Given the description of an element on the screen output the (x, y) to click on. 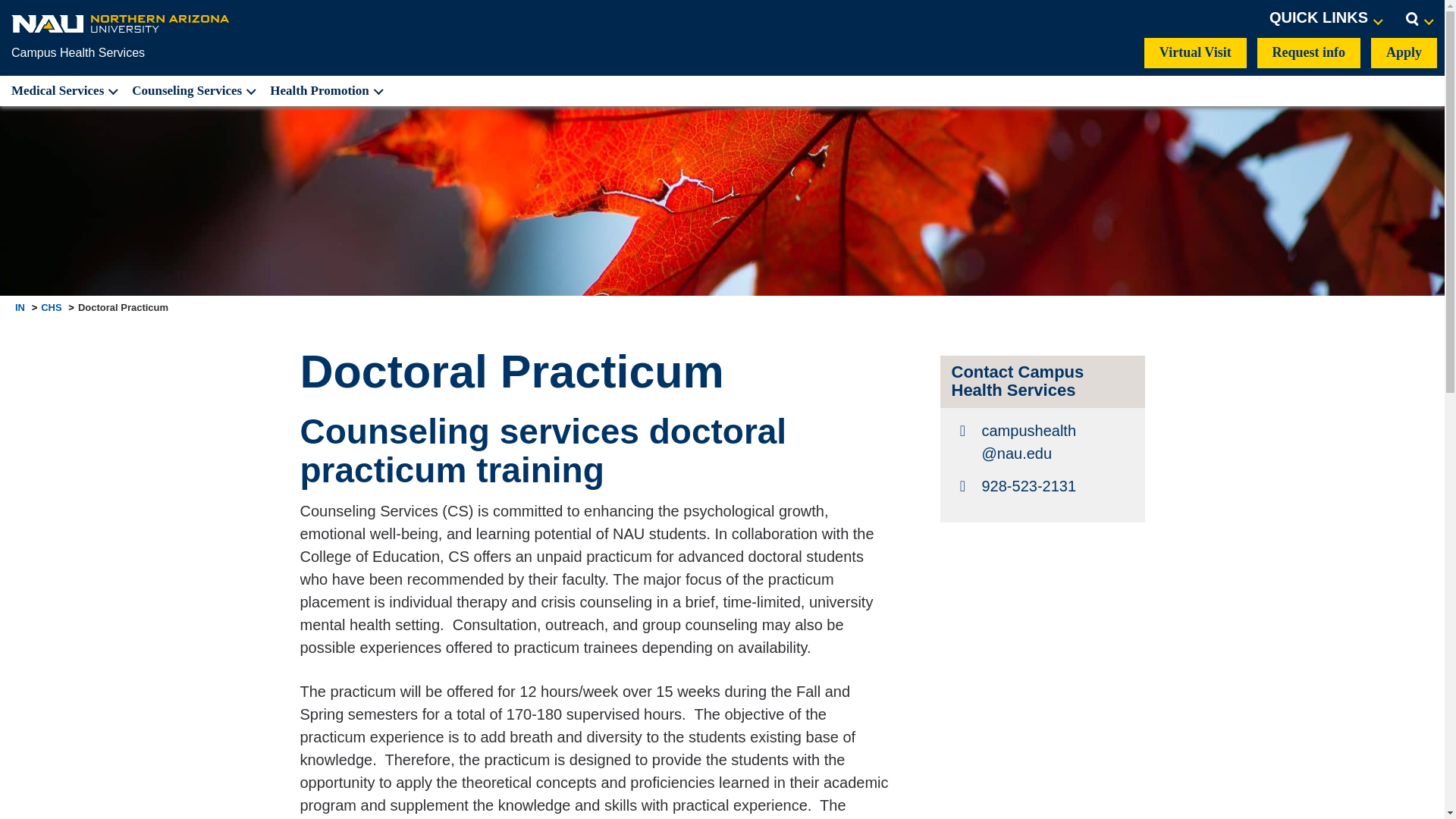
Email Address (1041, 441)
QUICK LINKS (1325, 18)
Request info (1309, 52)
Apply (1404, 52)
Virtual Visit (1195, 52)
Telephone Number (1041, 486)
NAU Home (121, 22)
Medical Services (61, 91)
Live chat (1401, 782)
Campus Health Services (77, 52)
